Given the description of an element on the screen output the (x, y) to click on. 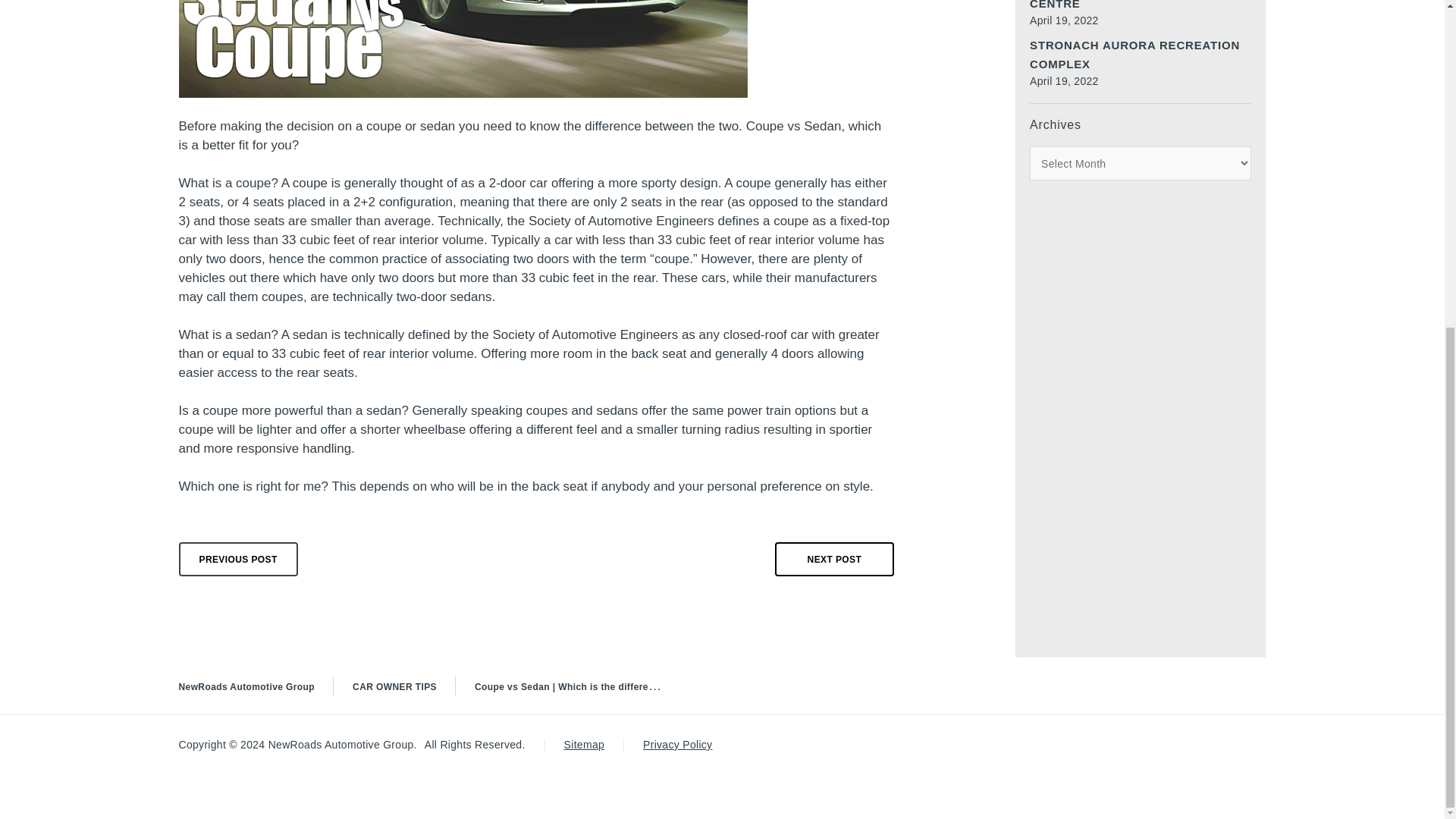
Powered by EDealer (1235, 747)
Go to the CAR OWNER TIPS category archives. (394, 686)
Go to NewRoads Automotive Group. (247, 686)
